Given the description of an element on the screen output the (x, y) to click on. 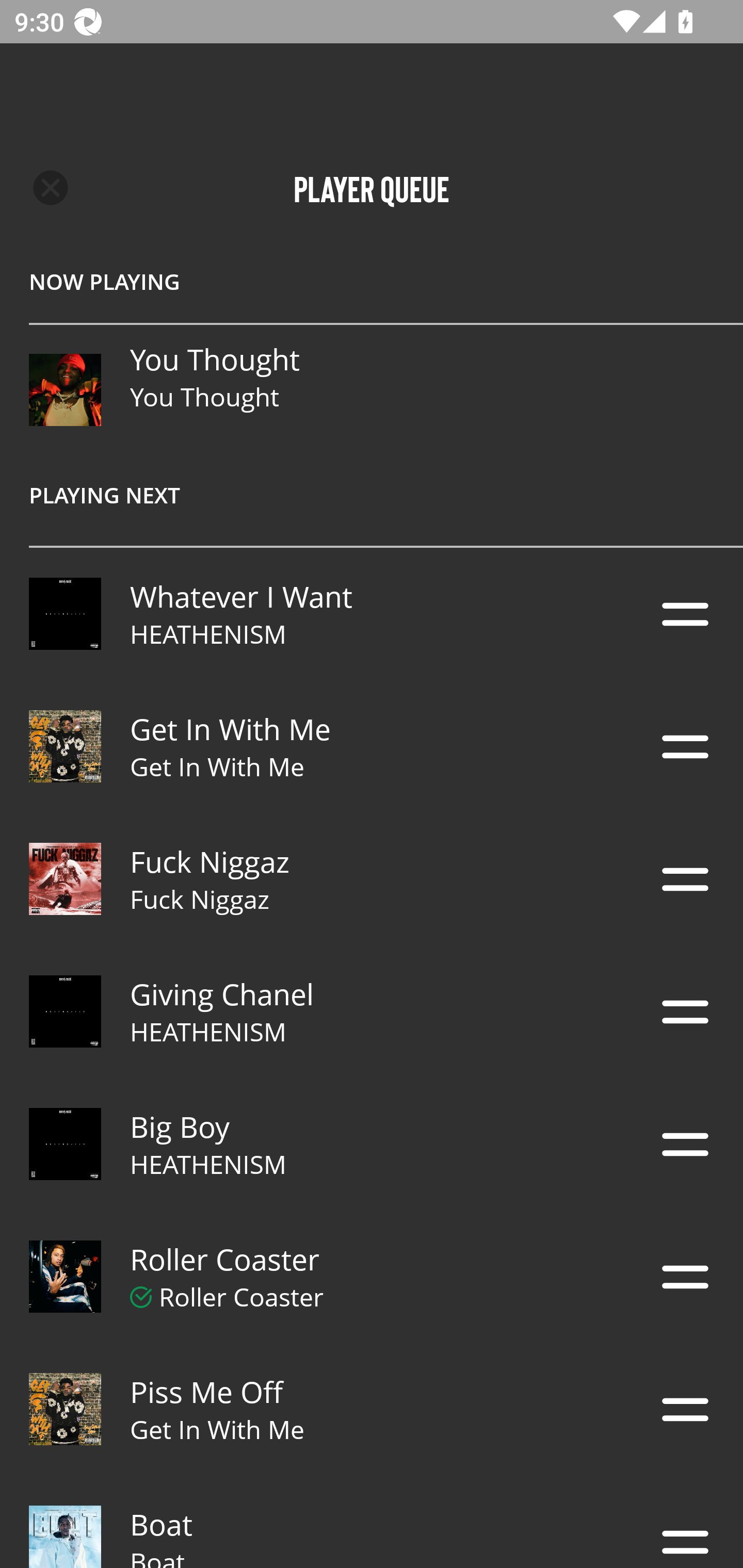
Navigate up (50, 187)
Description Whatever I Want HEATHENISM Description (371, 613)
Description Fuck Niggaz Fuck Niggaz Description (371, 878)
Description Giving Chanel HEATHENISM Description (371, 1011)
Description Big Boy HEATHENISM Description (371, 1144)
Description Piss Me Off Get In With Me Description (371, 1409)
Description Boat Boat Description (371, 1521)
